Given the description of an element on the screen output the (x, y) to click on. 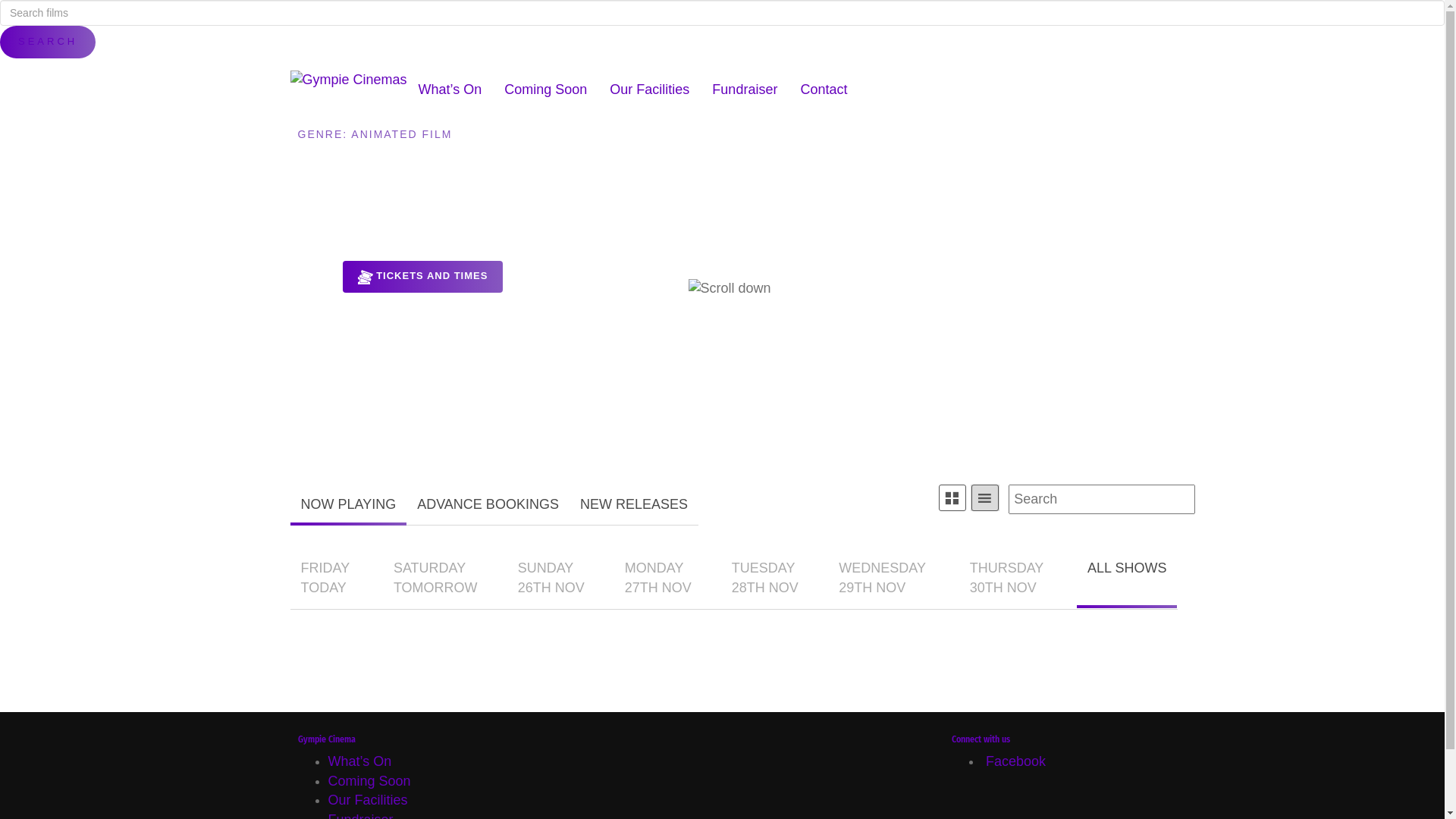
ALL SHOWS
  Element type: text (1126, 577)
Search Element type: text (47, 41)
SUNDAY 
26TH NOV Element type: text (551, 578)
NEW RELEASES Element type: text (633, 504)
Gympie Cinemas Element type: hover (347, 79)
ADVANCE BOOKINGS Element type: text (487, 504)
MONDAY 
27TH NOV Element type: text (658, 578)
TICKETS AND TIMES Element type: text (422, 276)
Coming Soon Element type: text (545, 89)
TUESDAY 
28TH NOV Element type: text (765, 578)
WEDNESDAY 
29TH NOV Element type: text (883, 578)
SATURDAY 
TOMORROW Element type: text (435, 578)
Poster Layout Element type: hover (952, 497)
Contact Element type: text (823, 89)
Detailed Layout Element type: hover (984, 497)
Fundraiser Element type: text (744, 89)
NOW PLAYING Element type: text (347, 504)
Our Facilities Element type: text (367, 799)
Our Facilities Element type: text (649, 89)
THURSDAY 
30TH NOV Element type: text (1008, 578)
Facebook Element type: text (1013, 760)
FRIDAY 
TODAY Element type: text (326, 578)
Coming Soon Element type: text (368, 780)
